Given the description of an element on the screen output the (x, y) to click on. 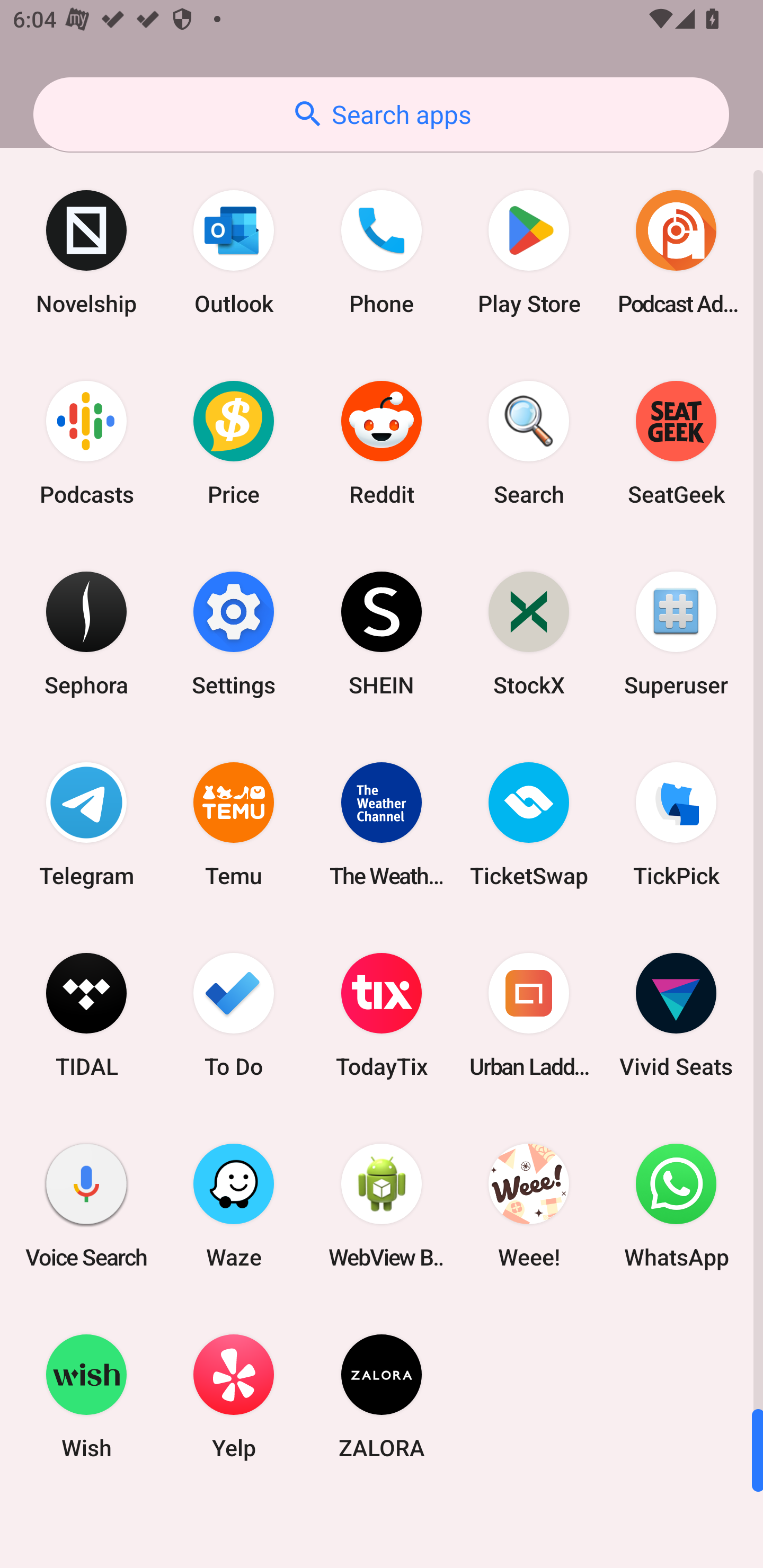
Yelp (233, 1396)
